Given the description of an element on the screen output the (x, y) to click on. 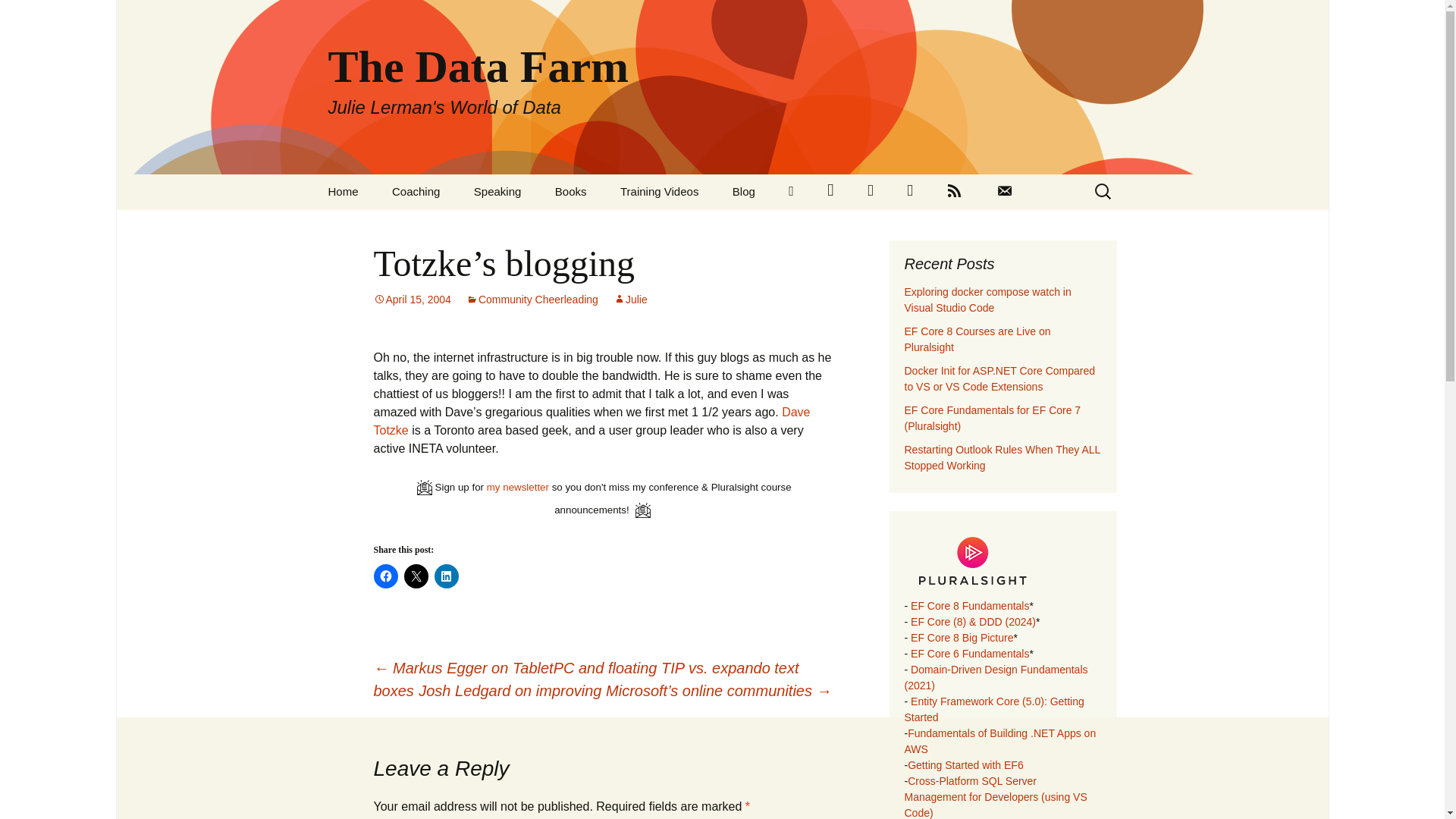
Search (18, 15)
my newsletter (517, 487)
Speaking (497, 191)
Training Videos (659, 191)
April 15, 2004 (410, 299)
Exploring docker compose watch in Visual Studio Code (987, 299)
LinkedIn (791, 191)
Community Cheerleading (531, 299)
Github (909, 191)
View all posts by Julie (629, 299)
Click to share on LinkedIn (445, 576)
EF Core 8 Courses are Live on Pluralsight (976, 338)
Contact (1004, 191)
RSS (953, 191)
